Given the description of an element on the screen output the (x, y) to click on. 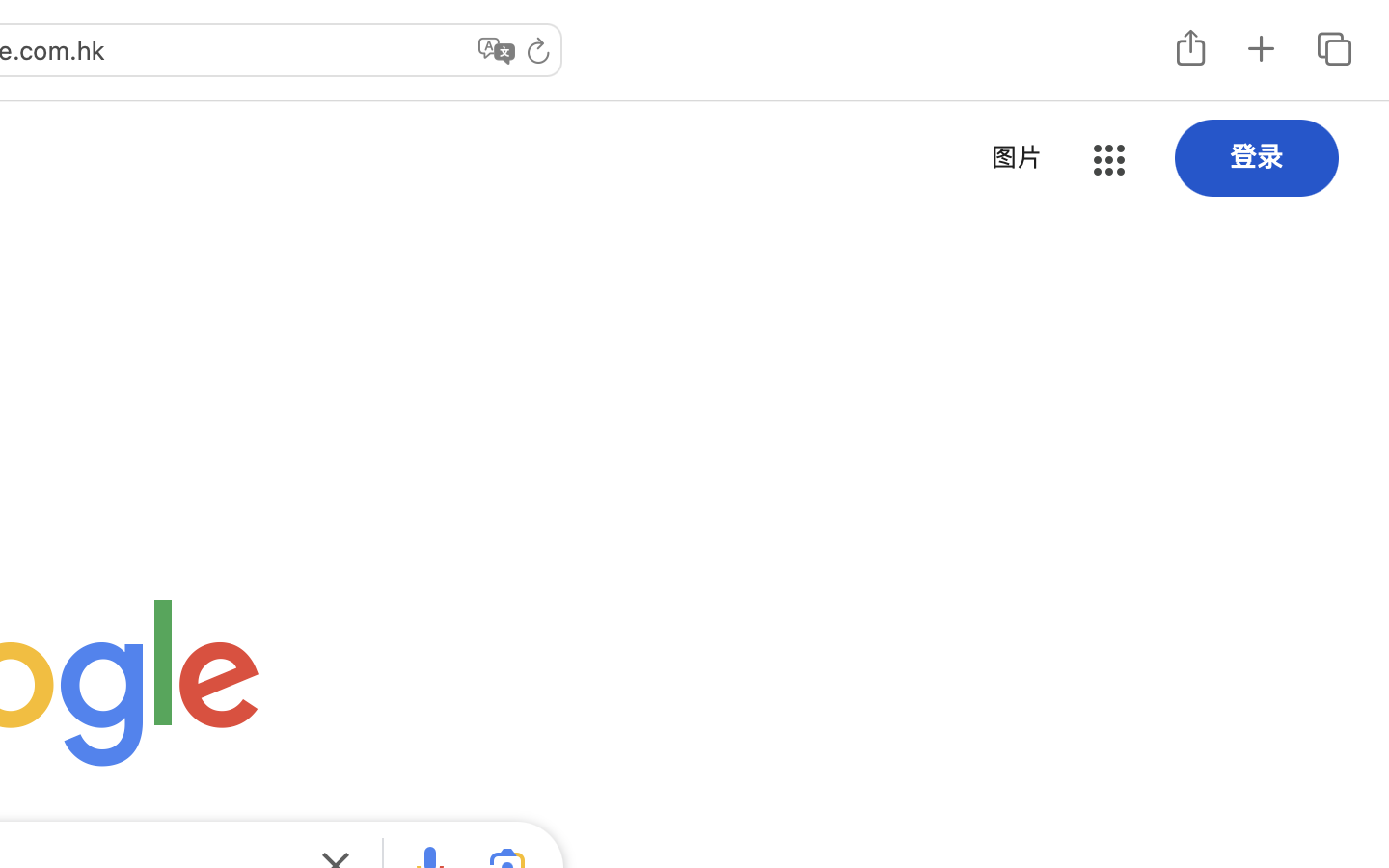
登录 Element type: AXStaticText (1256, 155)
图片 Element type: AXStaticText (1016, 156)
